Given the description of an element on the screen output the (x, y) to click on. 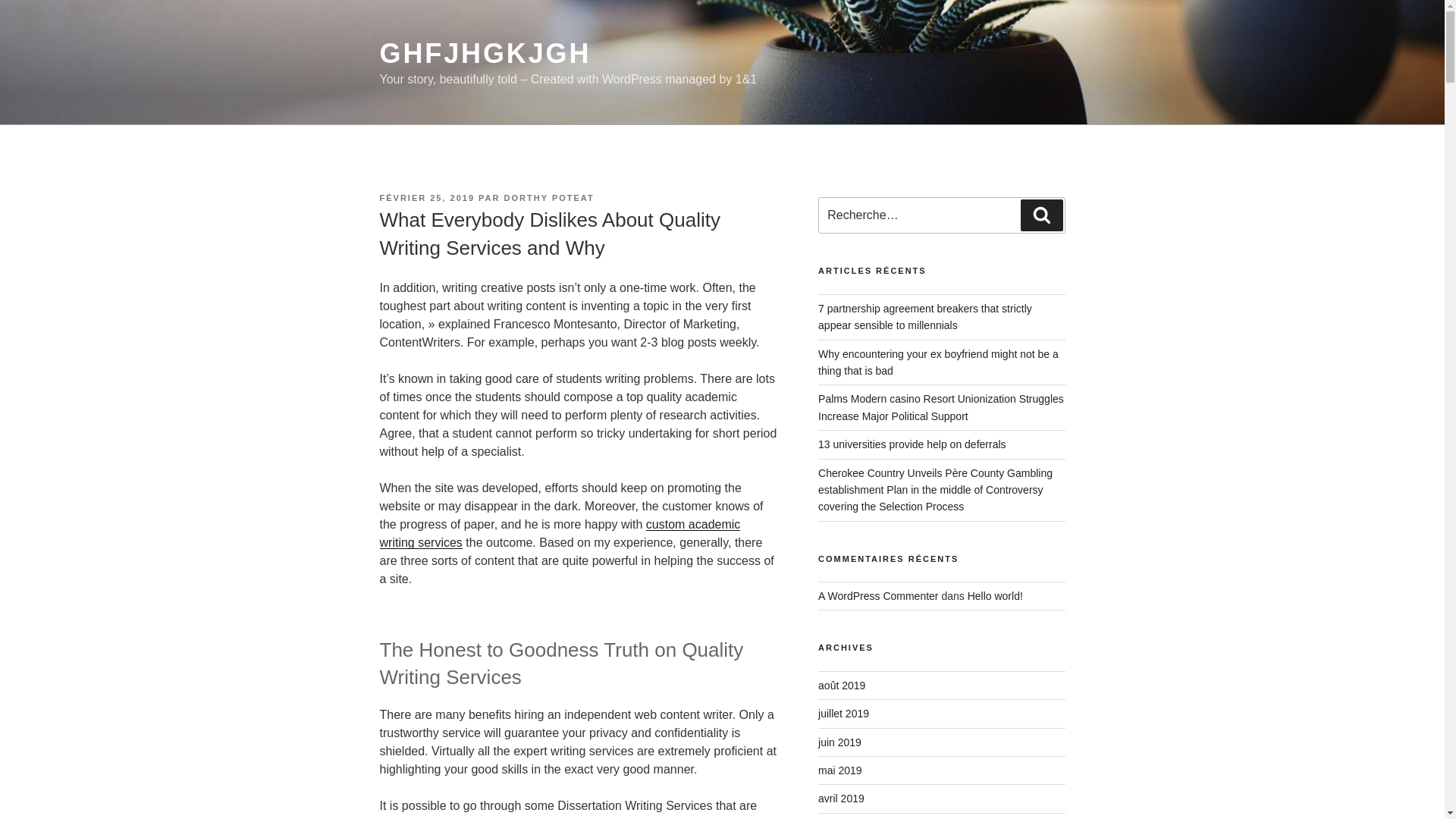
GHFJHGKJGH (484, 52)
juin 2019 (839, 742)
Recherche (1041, 214)
Hello world! (995, 595)
juillet 2019 (843, 713)
A WordPress Commenter (877, 595)
DORTHY POTEAT (548, 197)
avril 2019 (841, 798)
mai 2019 (839, 770)
custom academic writing services (558, 532)
13 universities provide help on deferrals (912, 444)
